Given the description of an element on the screen output the (x, y) to click on. 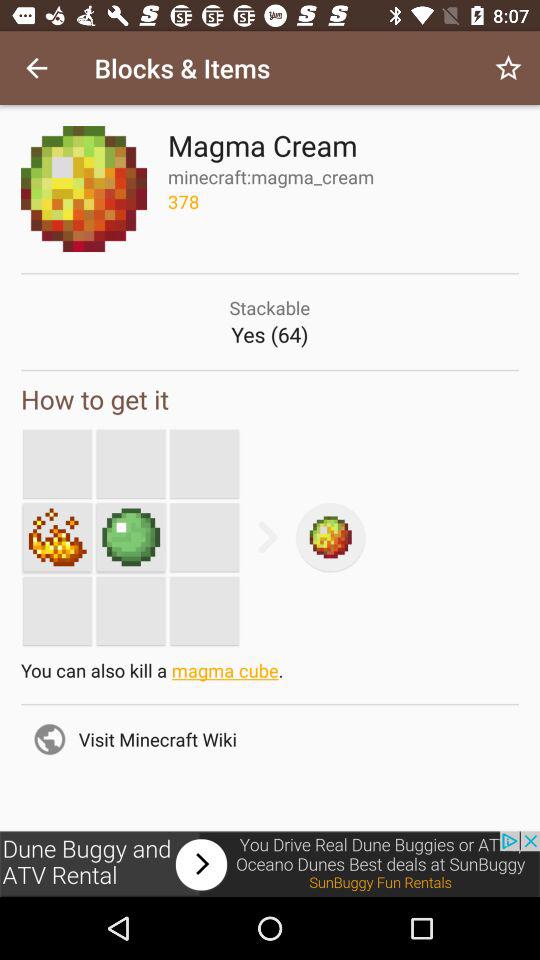
tap the item next to the blocks & items icon (508, 67)
